Given the description of an element on the screen output the (x, y) to click on. 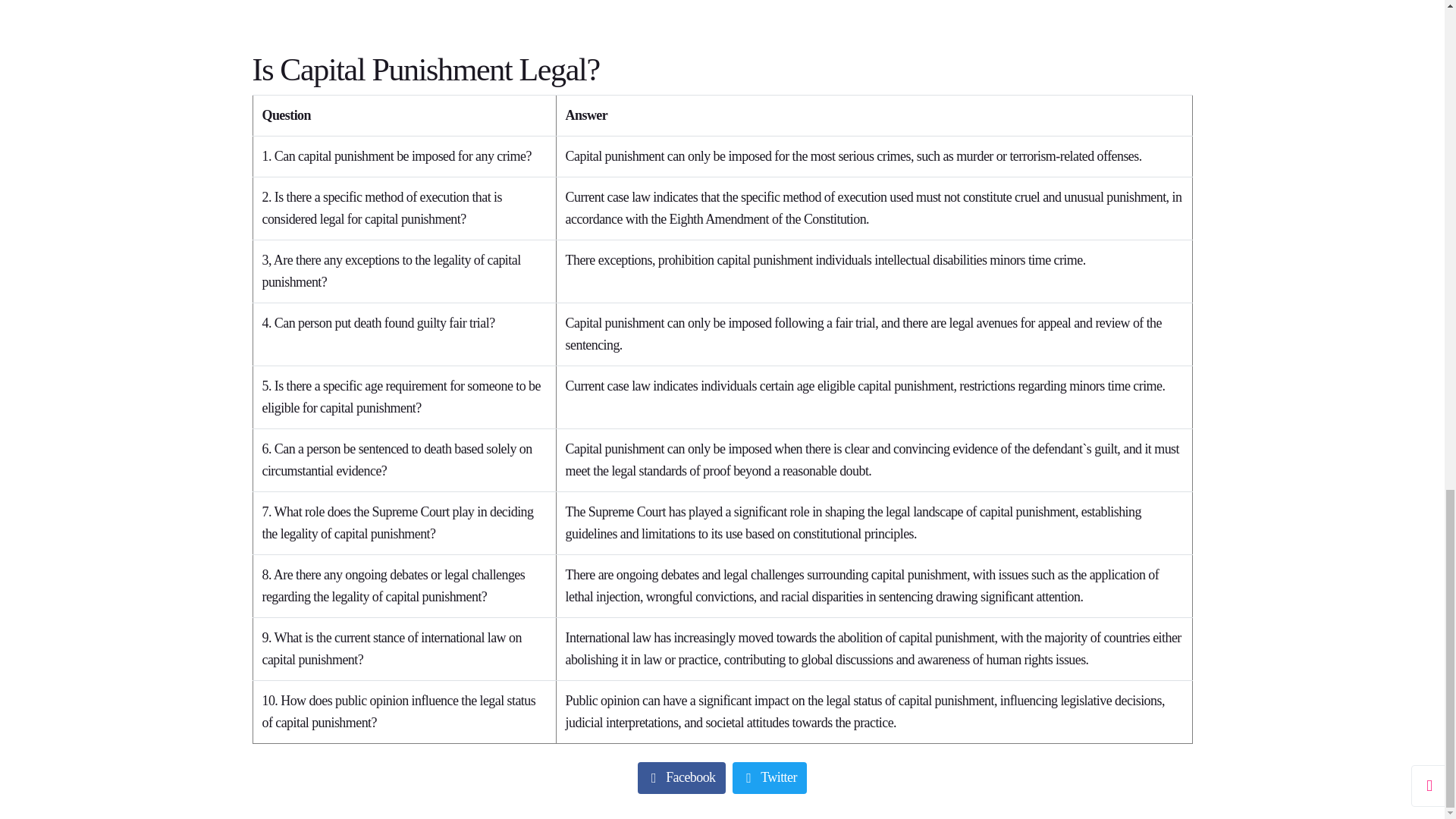
Twitter (769, 777)
Facebook (681, 777)
